Given the description of an element on the screen output the (x, y) to click on. 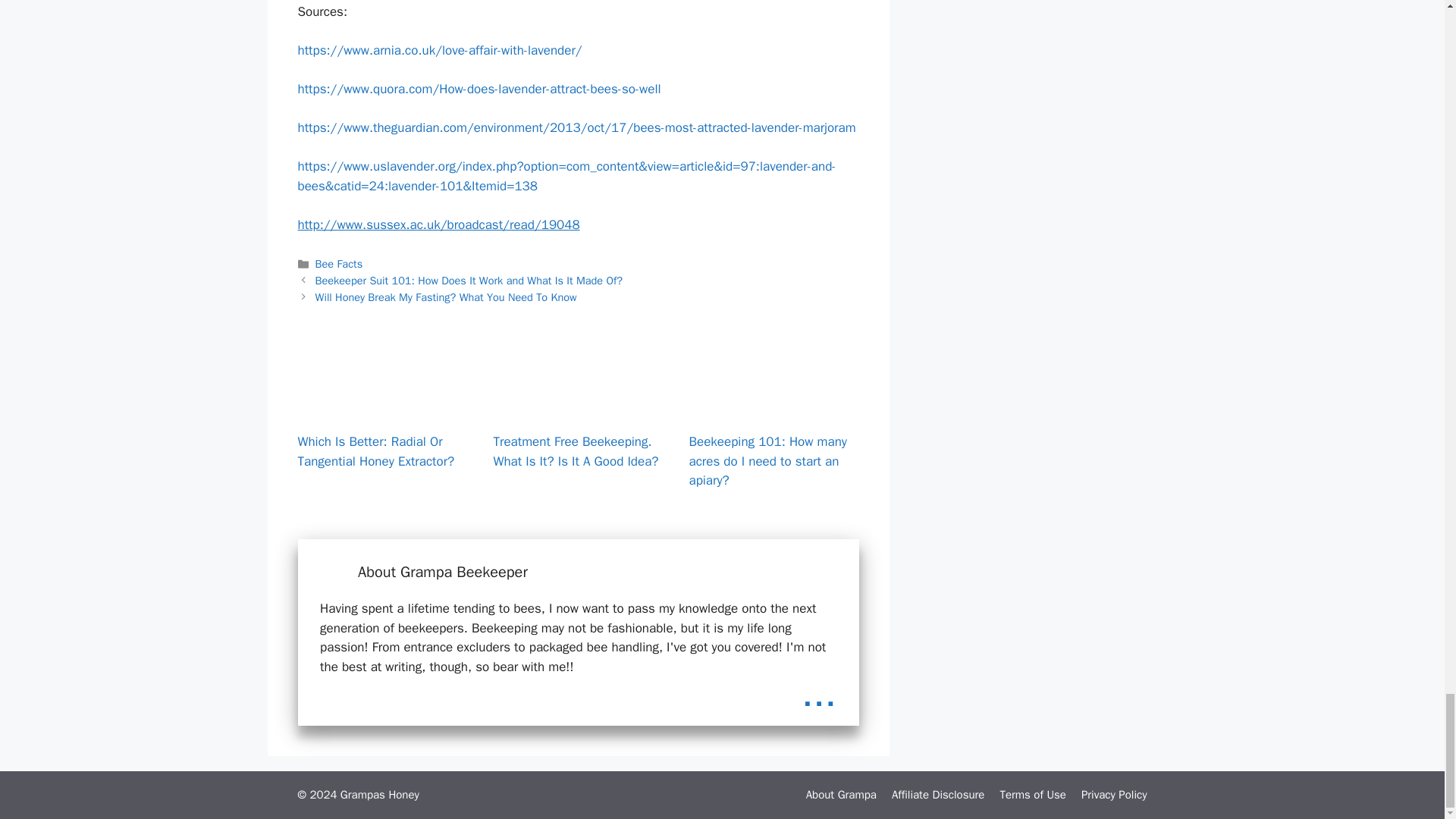
Terms of Use (1031, 794)
Bee Facts (338, 264)
Treatment Free Beekeeping. What Is It? Is It A Good Idea? (575, 451)
Which Is Better: Radial Or Tangential Honey Extractor? (382, 409)
Affiliate Disclosure (938, 794)
Which Is Better: Radial Or Tangential Honey Extractor? (375, 451)
Beekeeping 101: How many acres do I need to start an apiary? (767, 461)
Privacy Policy (1114, 794)
Beekeeping 101: How many acres do I need to start an apiary? (773, 409)
Treatment Free Beekeeping. What Is It? Is It A Good Idea? (577, 409)
Beekeeper Suit 101: How Does It Work and What Is It Made Of? (469, 280)
Will Honey Break My Fasting? What You Need To Know (445, 296)
... (818, 693)
About Grampa (841, 794)
Read more (818, 693)
